Given the description of an element on the screen output the (x, y) to click on. 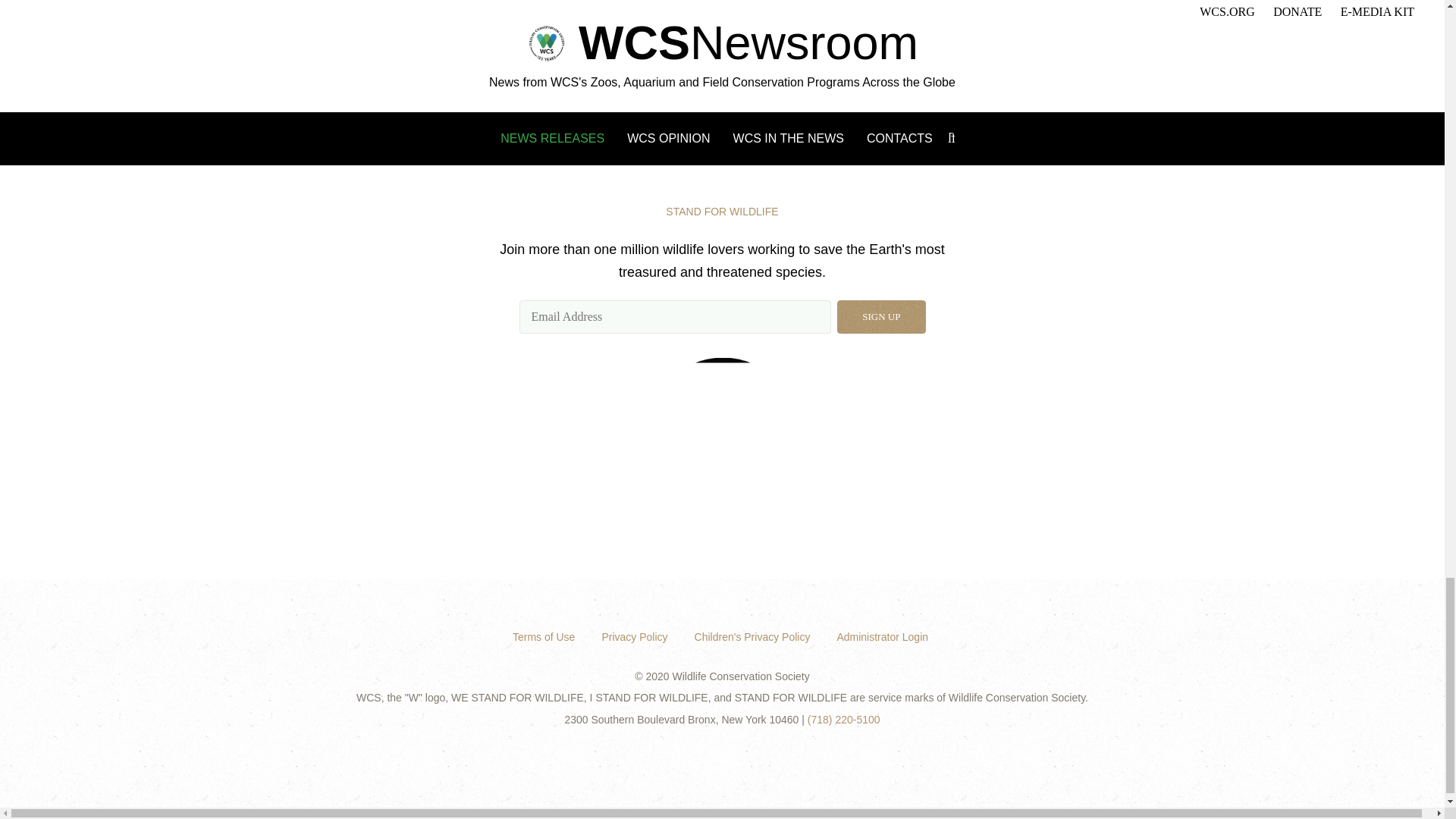
Full Article (543, 57)
First (303, 84)
